Given the description of an element on the screen output the (x, y) to click on. 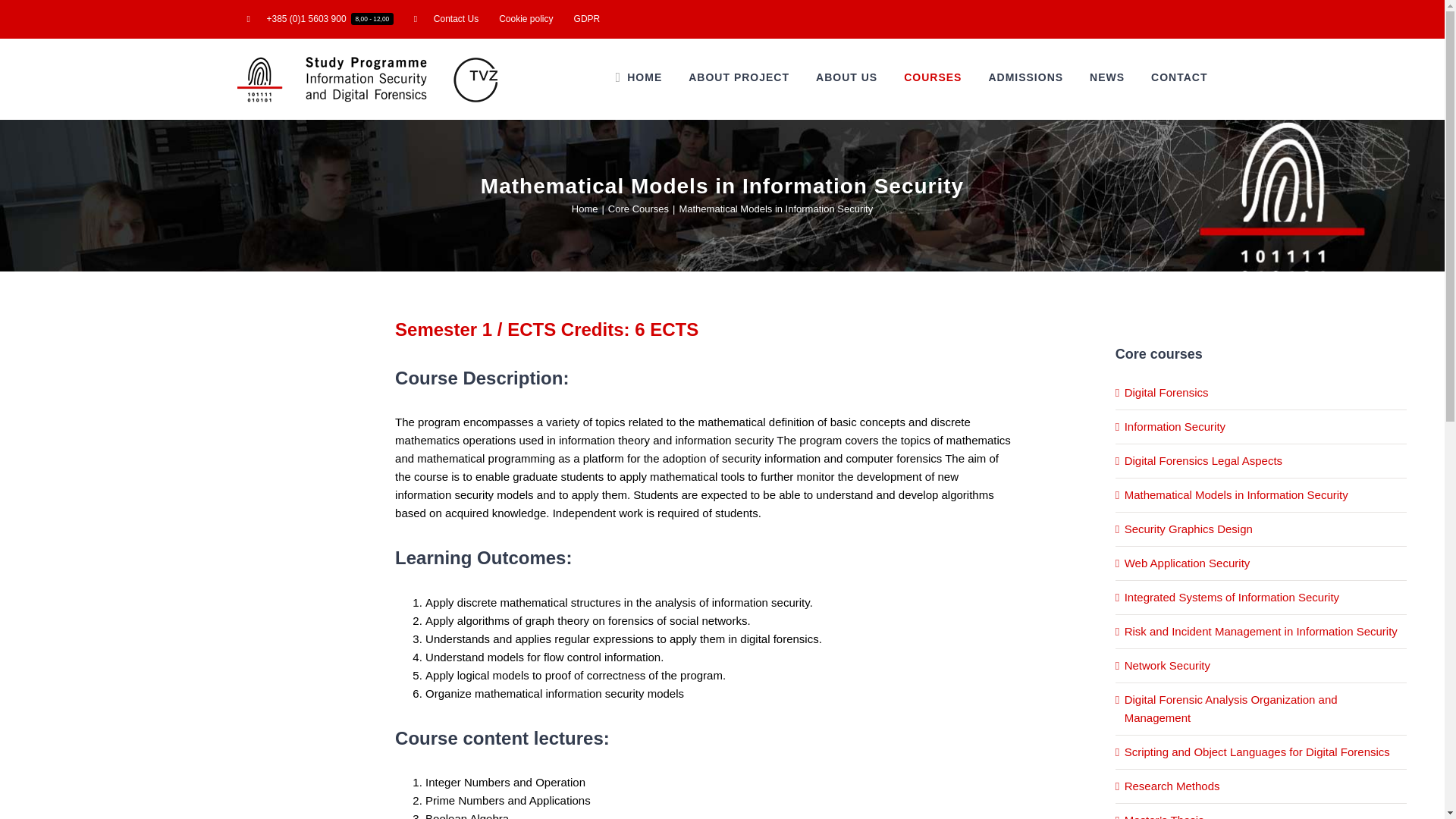
GDPR (587, 18)
Contact Us (445, 18)
ABOUT PROJECT (738, 77)
Cookie policy (525, 18)
